Given the description of an element on the screen output the (x, y) to click on. 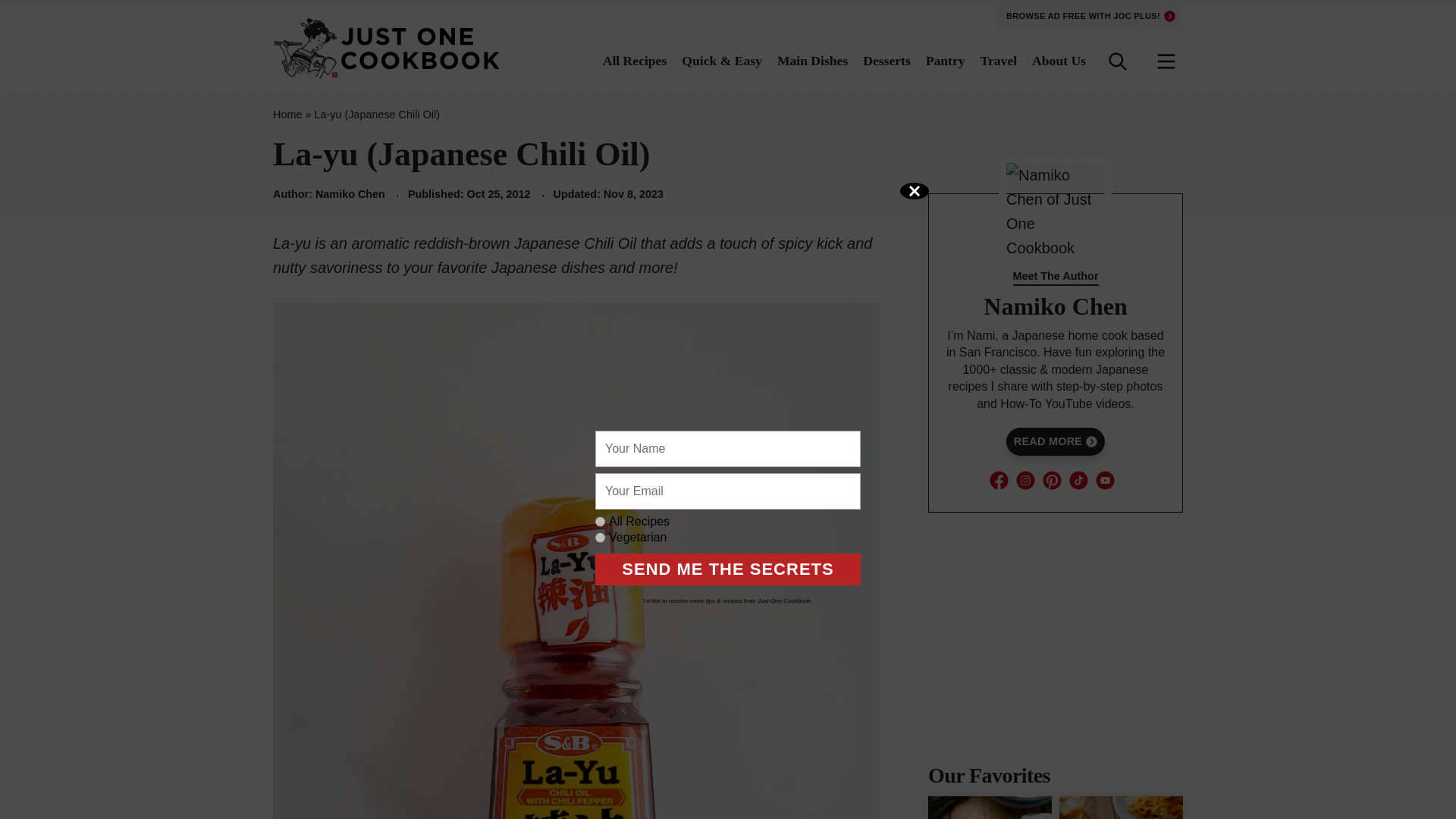
Main Dishes (812, 60)
Desserts (887, 60)
Pantry (945, 60)
All Recipes (634, 60)
SEND ME THE SECRETS  (727, 569)
Close (913, 190)
About Us (1059, 60)
Travel (998, 60)
BROWSE AD FREE WITH JOC PLUS! (1090, 16)
